Given the description of an element on the screen output the (x, y) to click on. 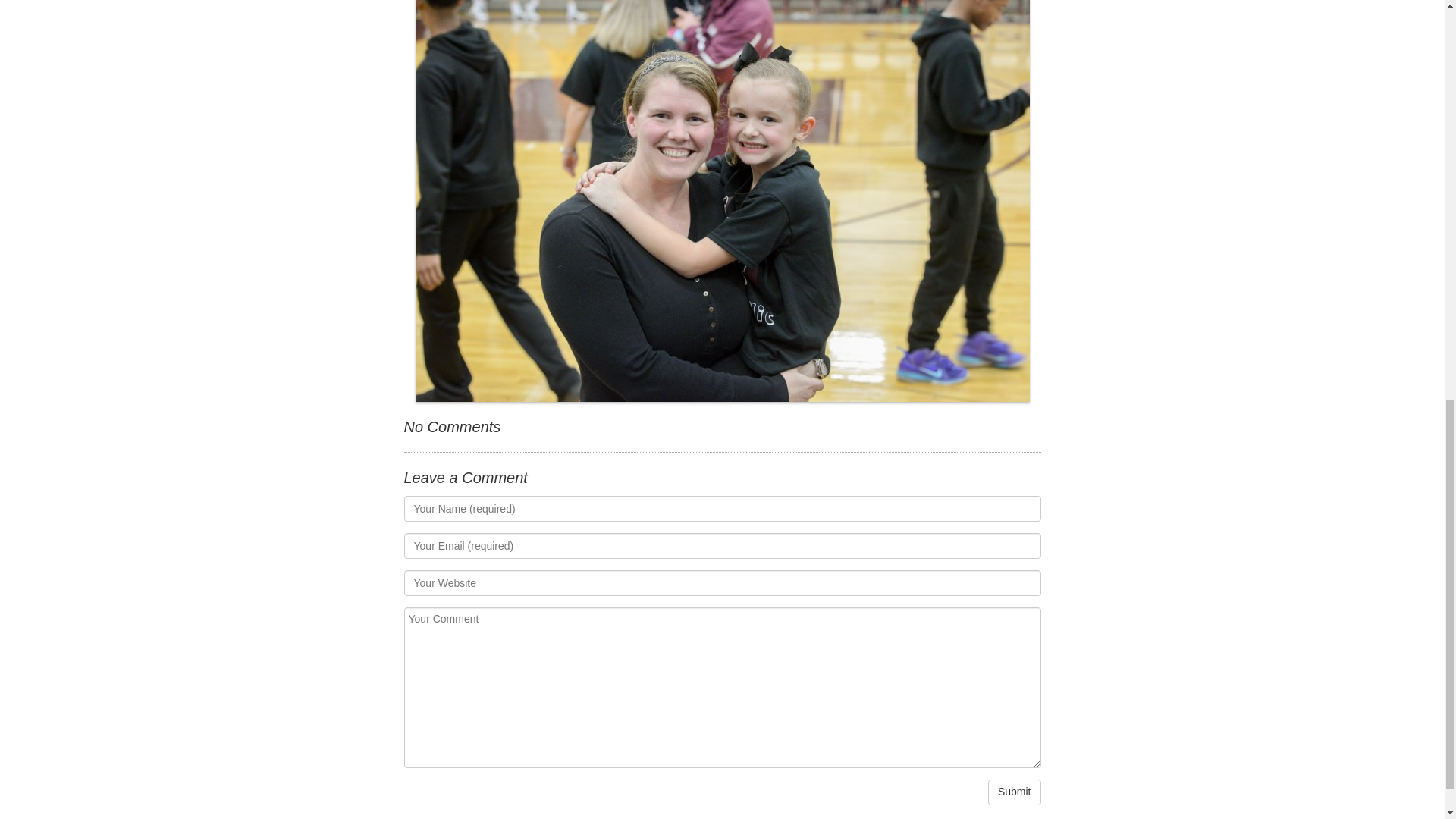
Submit (1014, 792)
Submit (1014, 792)
